Given the description of an element on the screen output the (x, y) to click on. 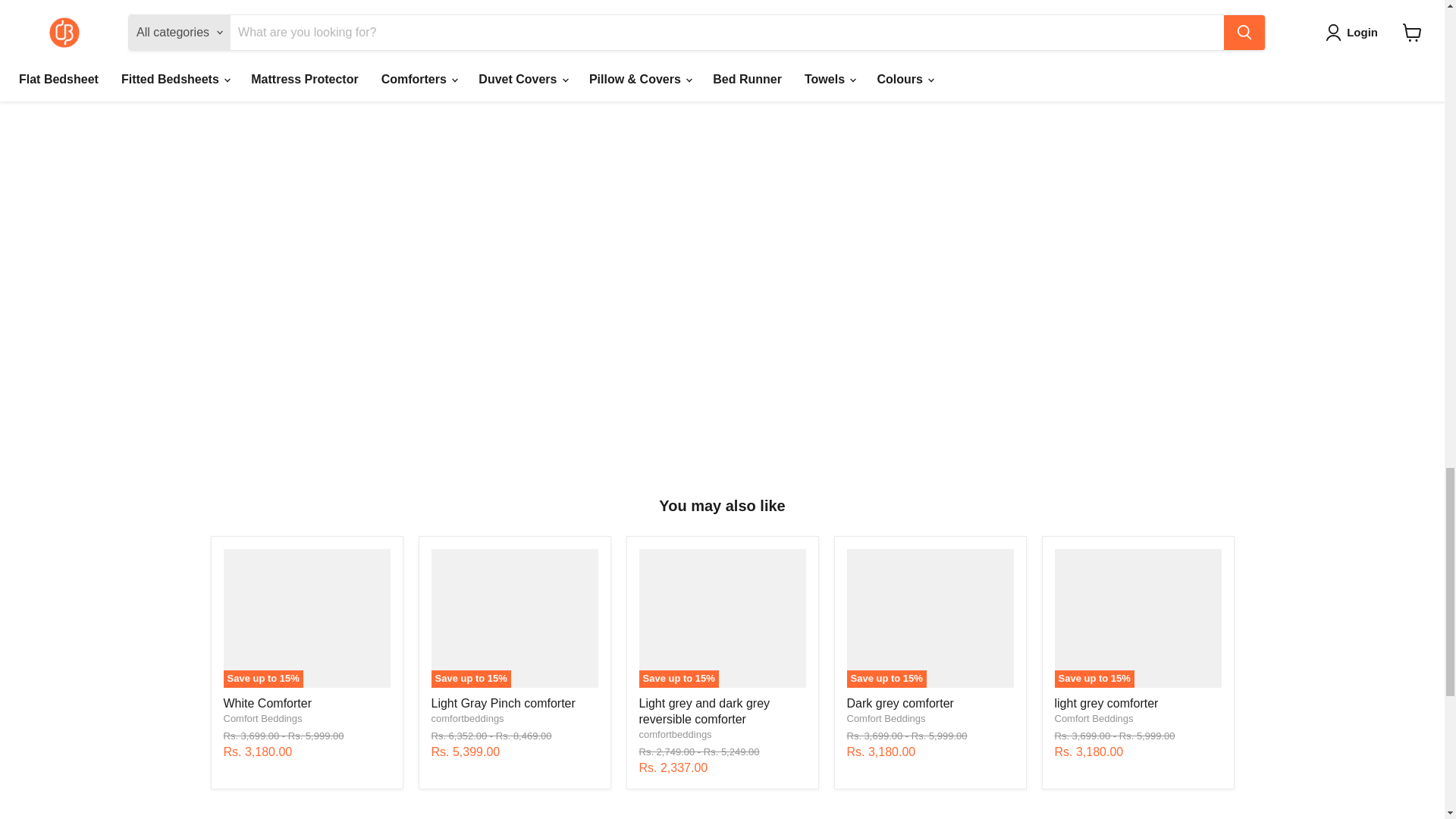
comfortbeddings (466, 717)
Comfort Beddings (884, 717)
Comfort Beddings (261, 717)
Comfort Beddings (1093, 717)
comfortbeddings (675, 734)
